Given the description of an element on the screen output the (x, y) to click on. 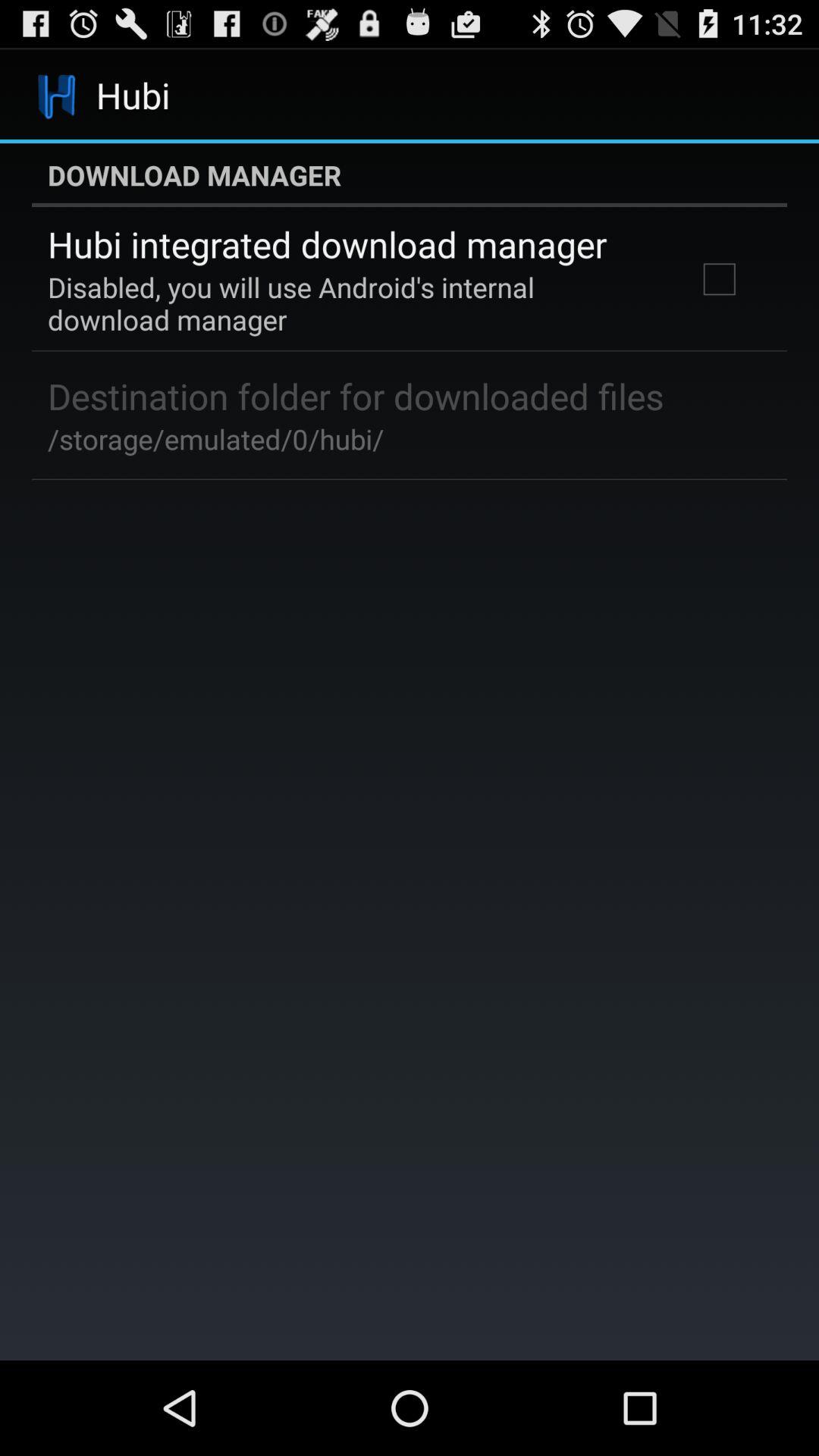
jump until the hubi integrated download item (326, 244)
